Given the description of an element on the screen output the (x, y) to click on. 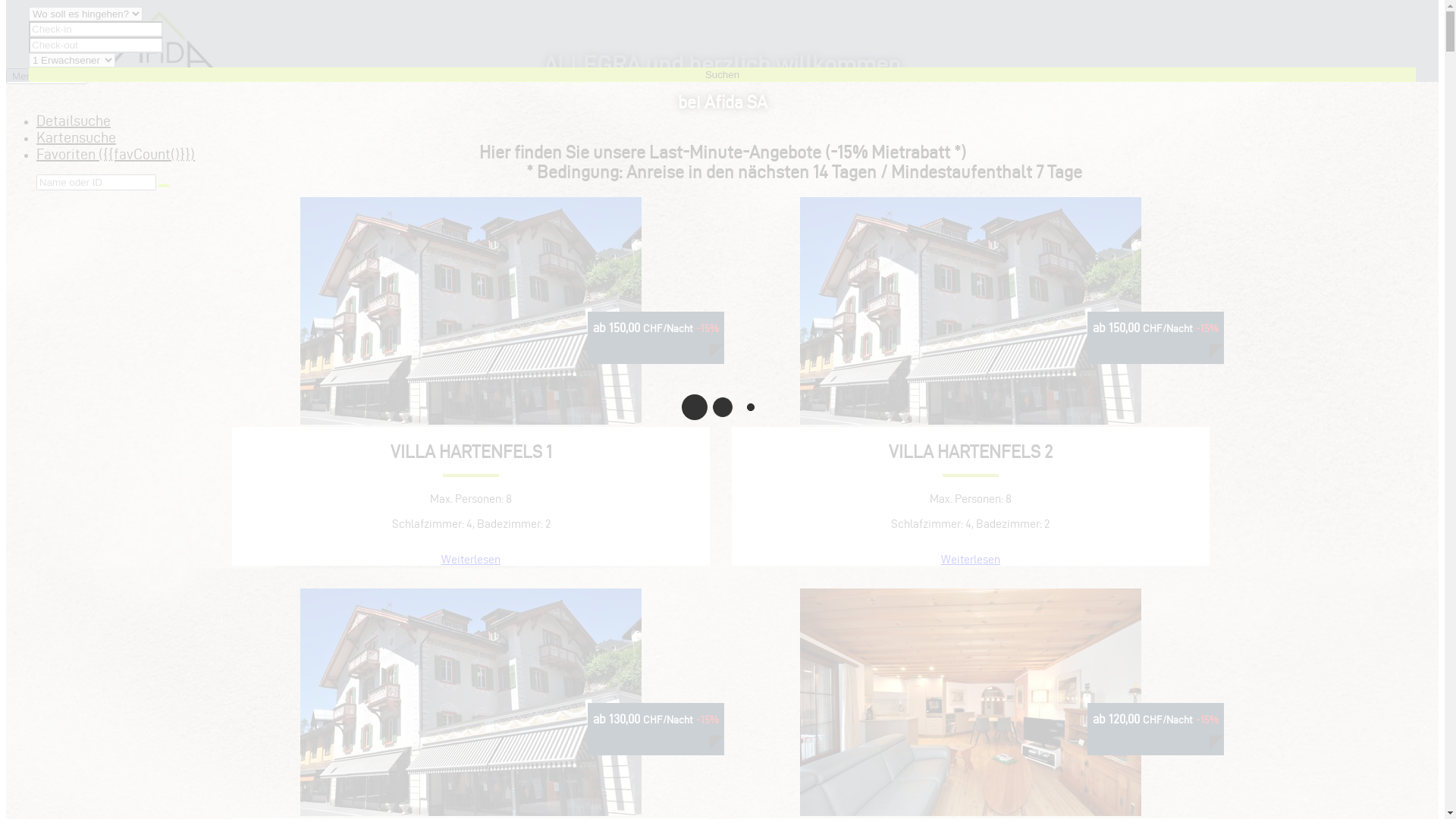
Suchen Element type: text (721, 74)
Weiterlesen Element type: text (970, 558)
Kartensuche Element type: text (76, 136)
Weiterlesen Element type: text (470, 558)
Detailsuche Element type: text (73, 120)
Afida SA Element type: hover (164, 42)
